Given the description of an element on the screen output the (x, y) to click on. 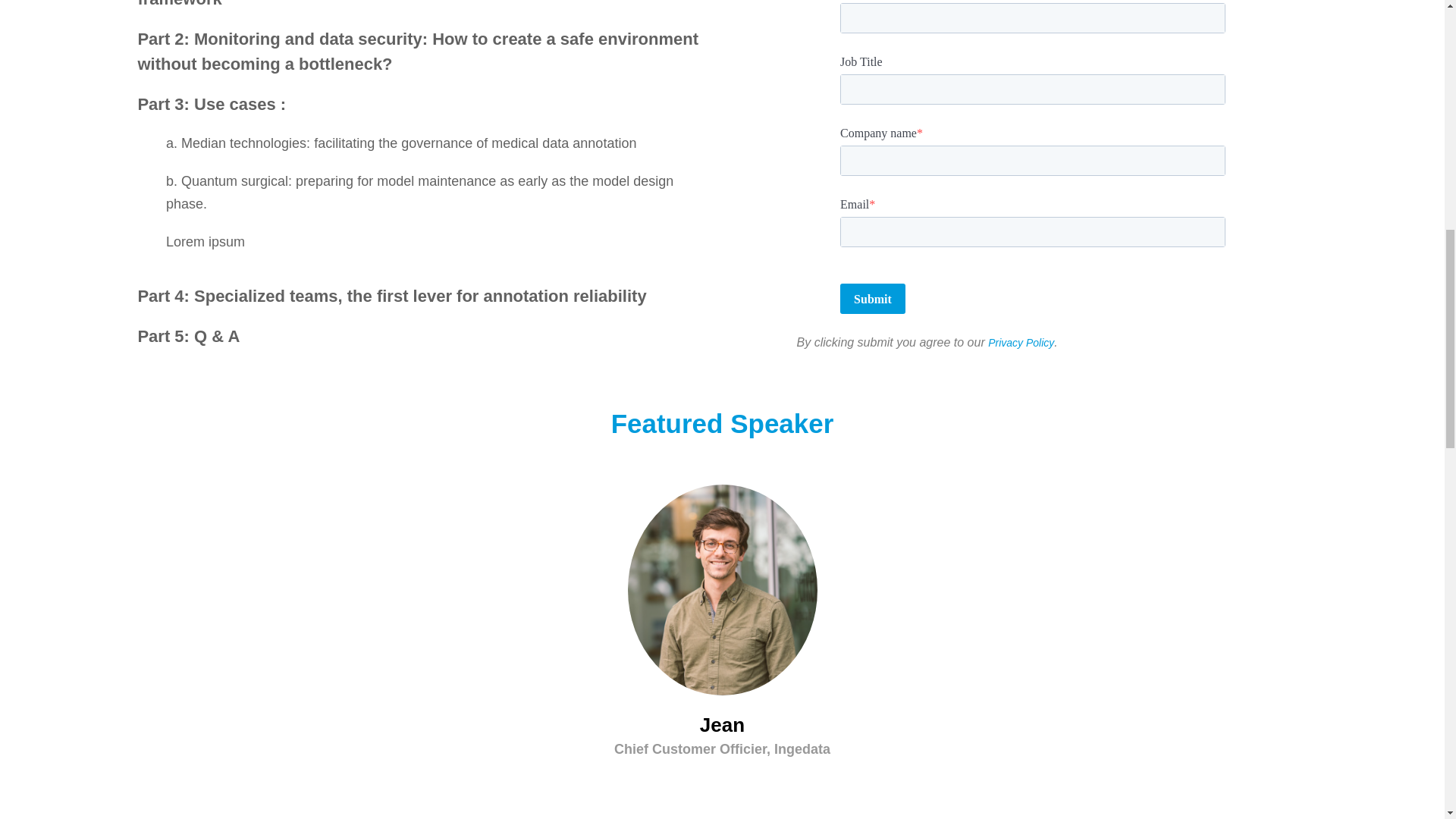
Privacy Policy (1021, 342)
Submit (872, 298)
